Given the description of an element on the screen output the (x, y) to click on. 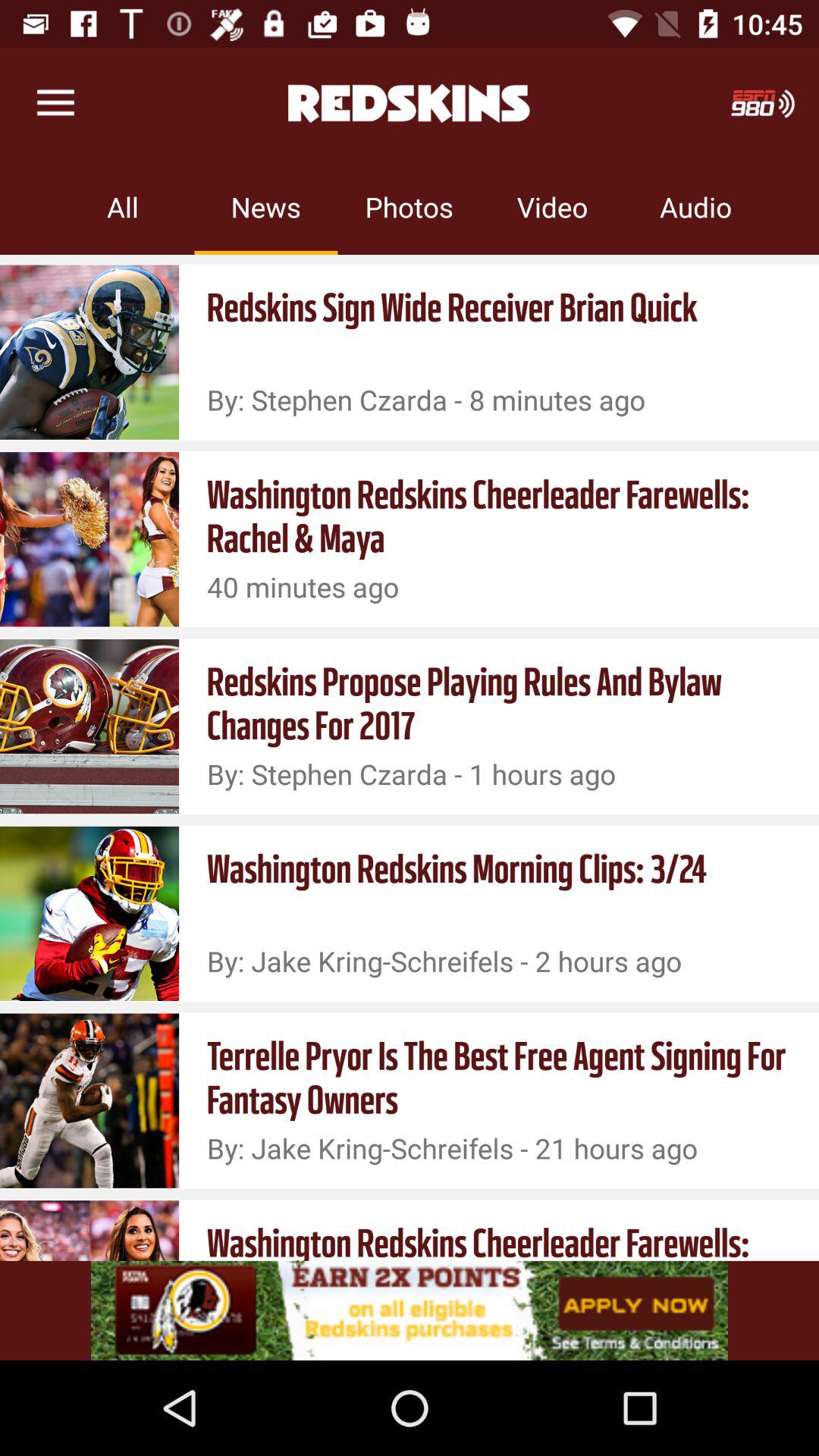
adsence (409, 1310)
